Given the description of an element on the screen output the (x, y) to click on. 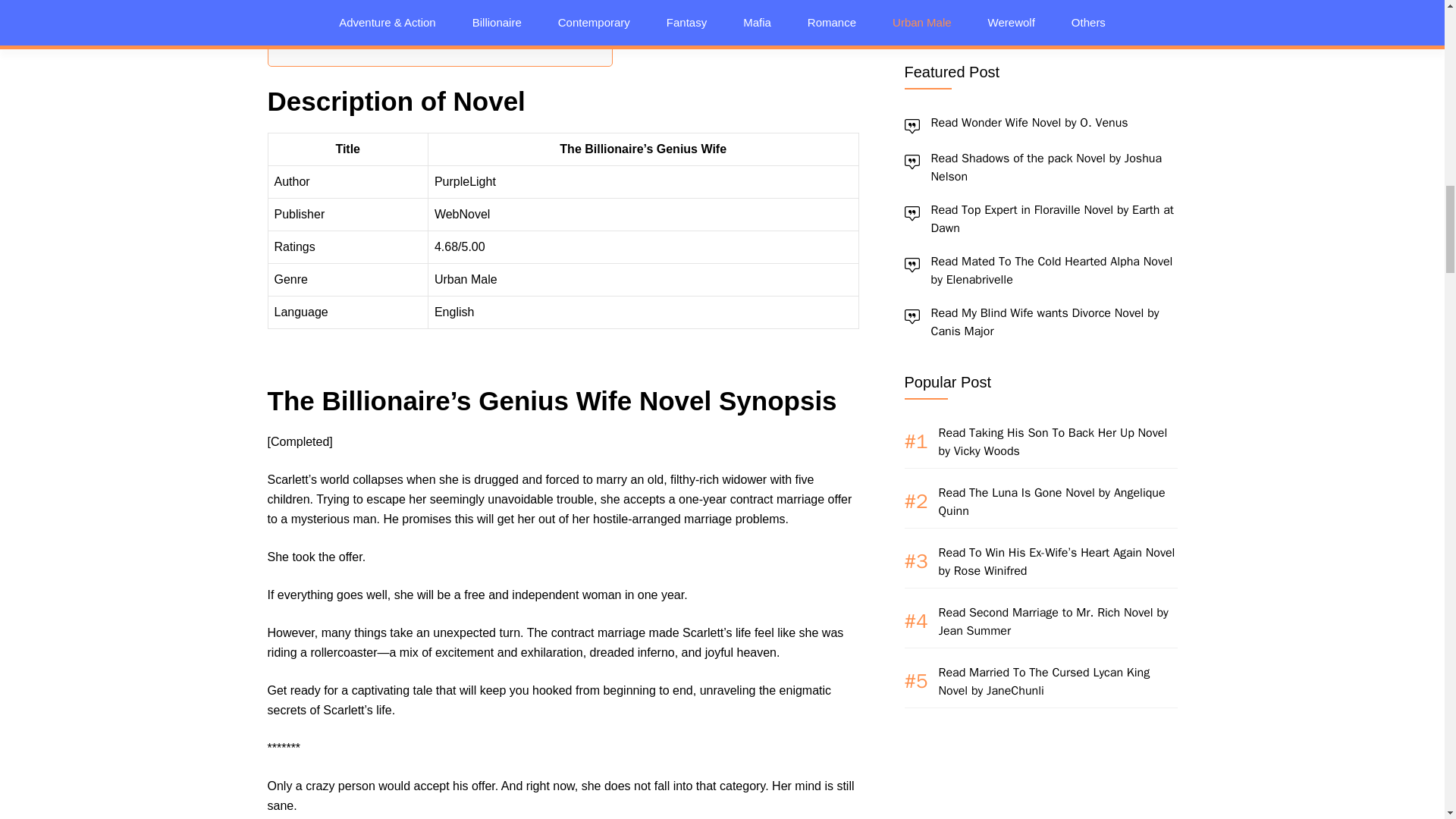
Free Online Novel Reading Service Providers (436, 12)
Free Online Novel Reading Service Providers (436, 12)
Conclusion (342, 35)
